Given the description of an element on the screen output the (x, y) to click on. 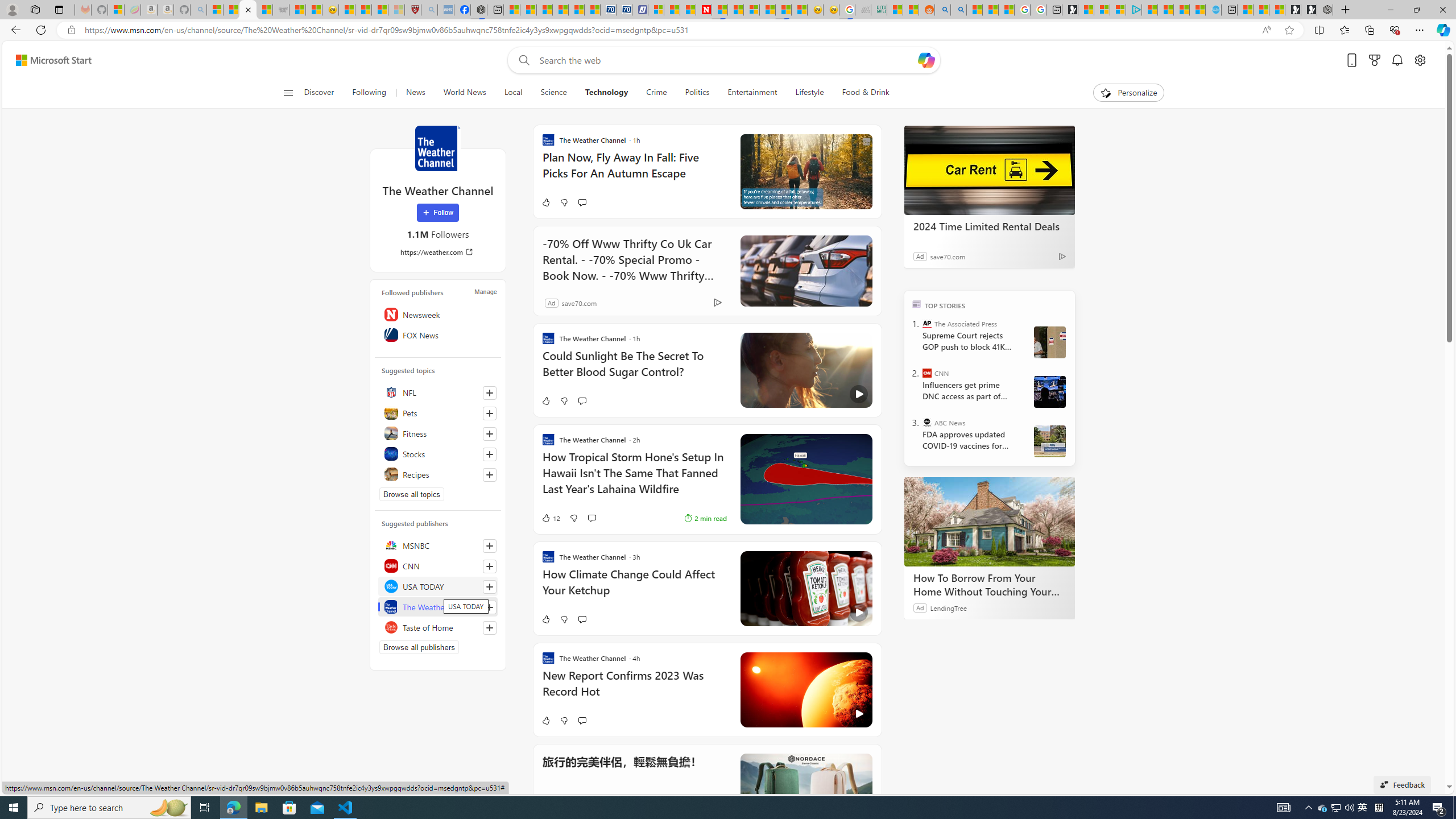
MSNBC (437, 545)
How Climate Change Could Affect Your Ketchup (633, 587)
The Weather Channel (437, 606)
